Given the description of an element on the screen output the (x, y) to click on. 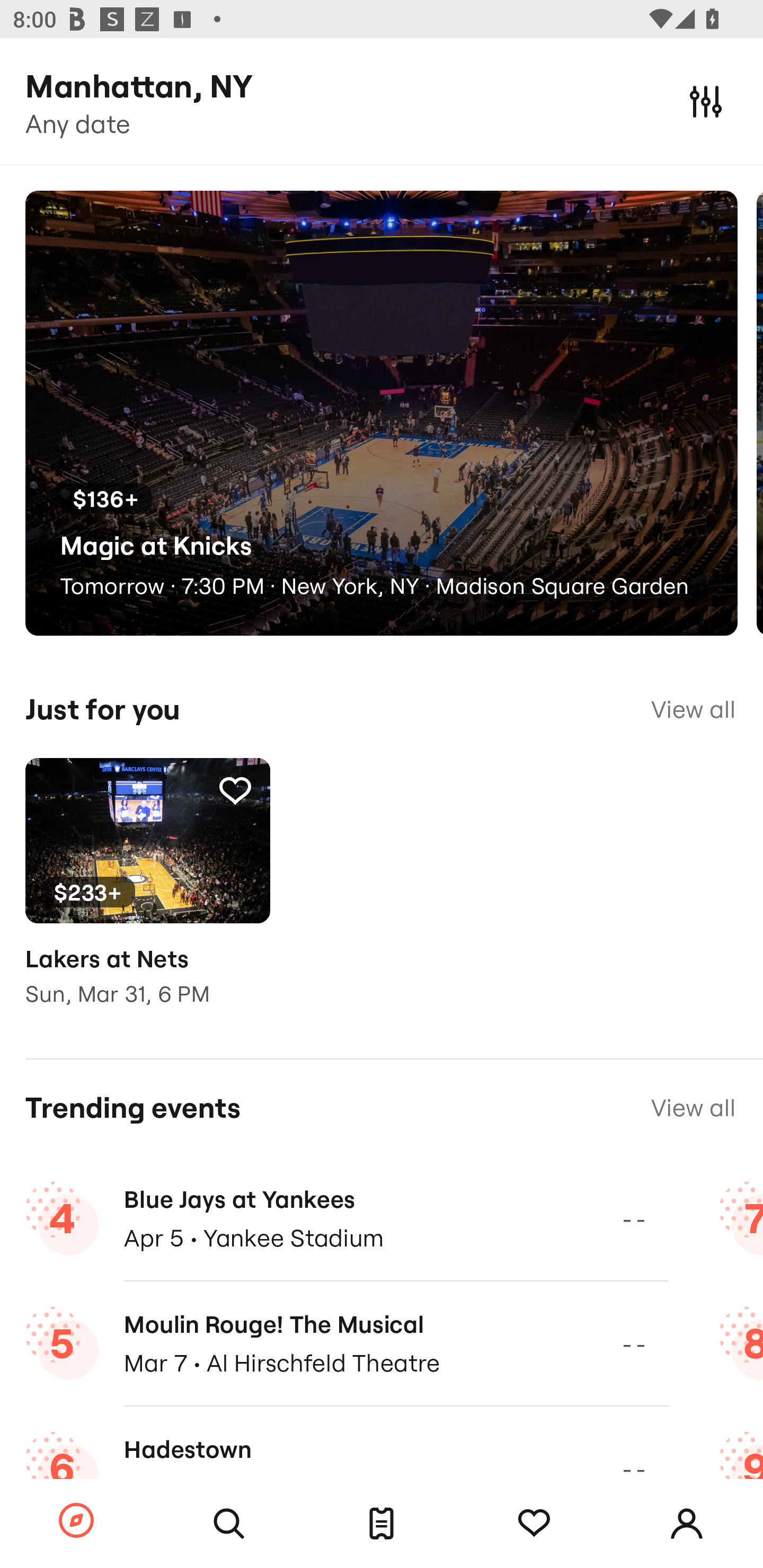
Filters (705, 100)
View all (693, 709)
Tracking $233+ Lakers at Nets Sun, Mar 31, 6 PM (147, 895)
Tracking (234, 790)
View all (693, 1108)
Browse (76, 1521)
Search (228, 1523)
Tickets (381, 1523)
Tracking (533, 1523)
Account (686, 1523)
